Given the description of an element on the screen output the (x, y) to click on. 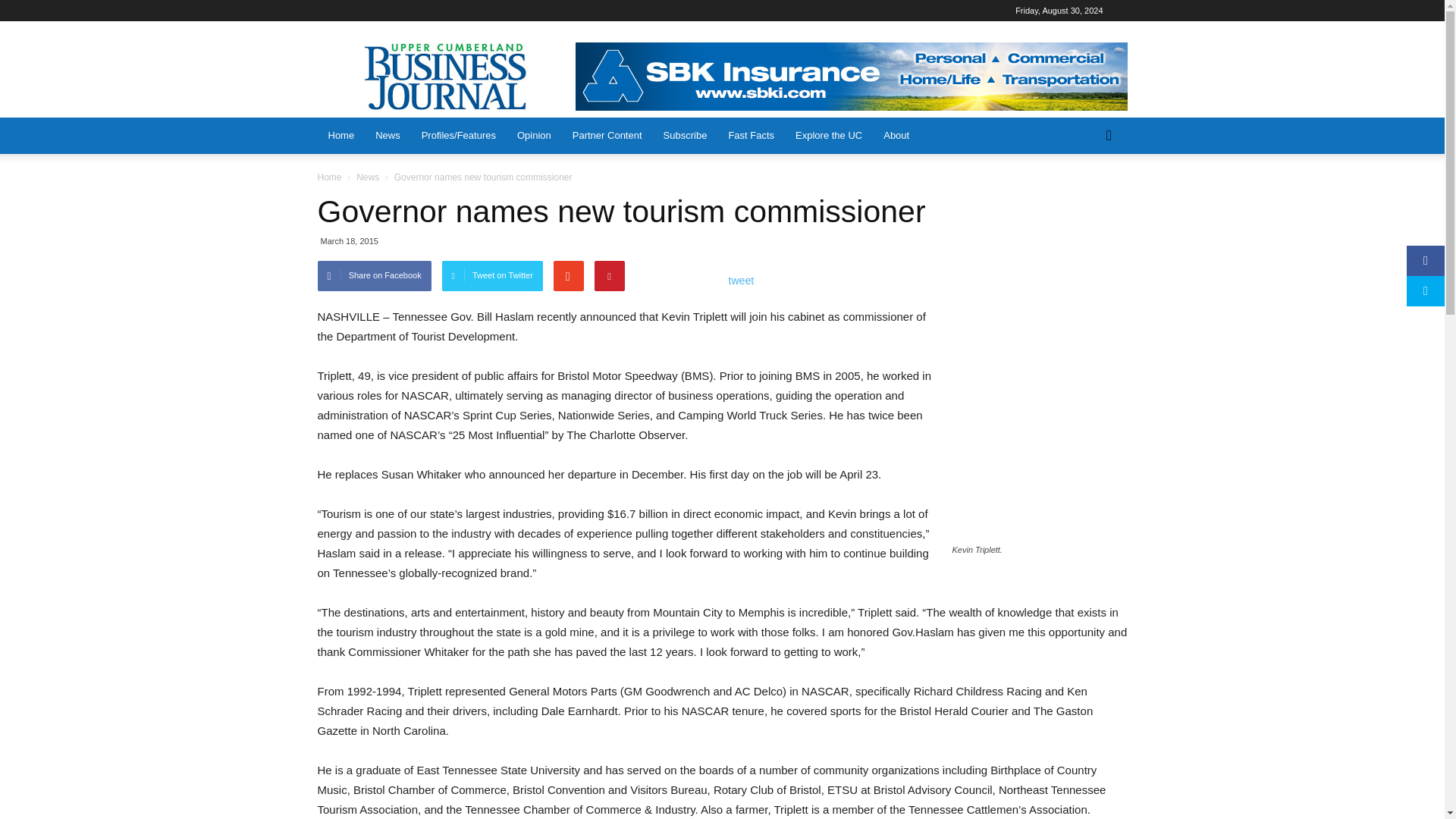
View all posts in News (367, 176)
Home (341, 135)
News (387, 135)
Opinion (534, 135)
Your voice for business in the Upper Cumberland (446, 76)
